Given the description of an element on the screen output the (x, y) to click on. 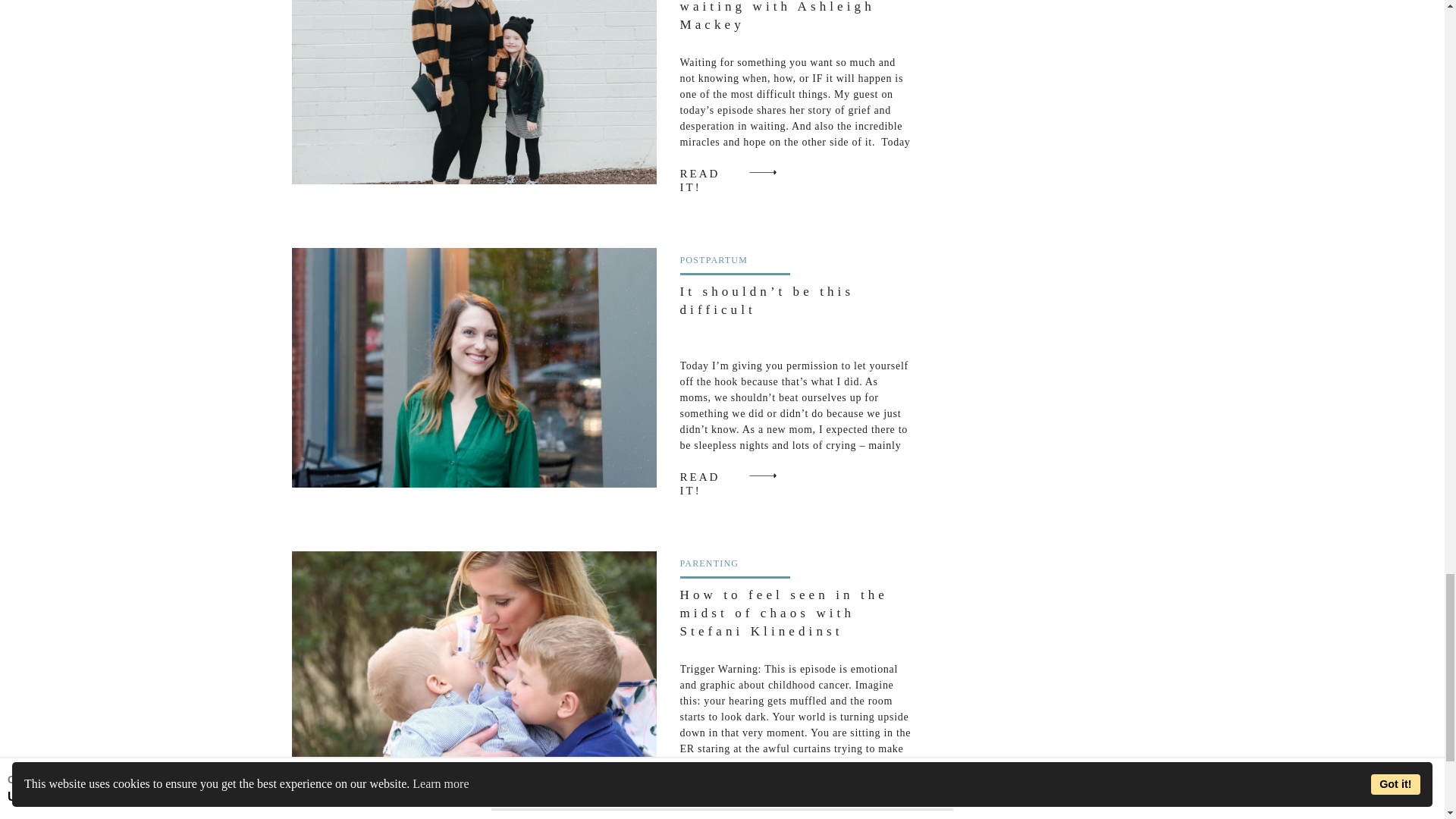
Choosing faith in the waiting with Ashleigh Mackey (761, 171)
Choosing faith in the waiting with Ashleigh Mackey (712, 171)
Choosing faith in the waiting with Ashleigh Mackey (473, 92)
